Given the description of an element on the screen output the (x, y) to click on. 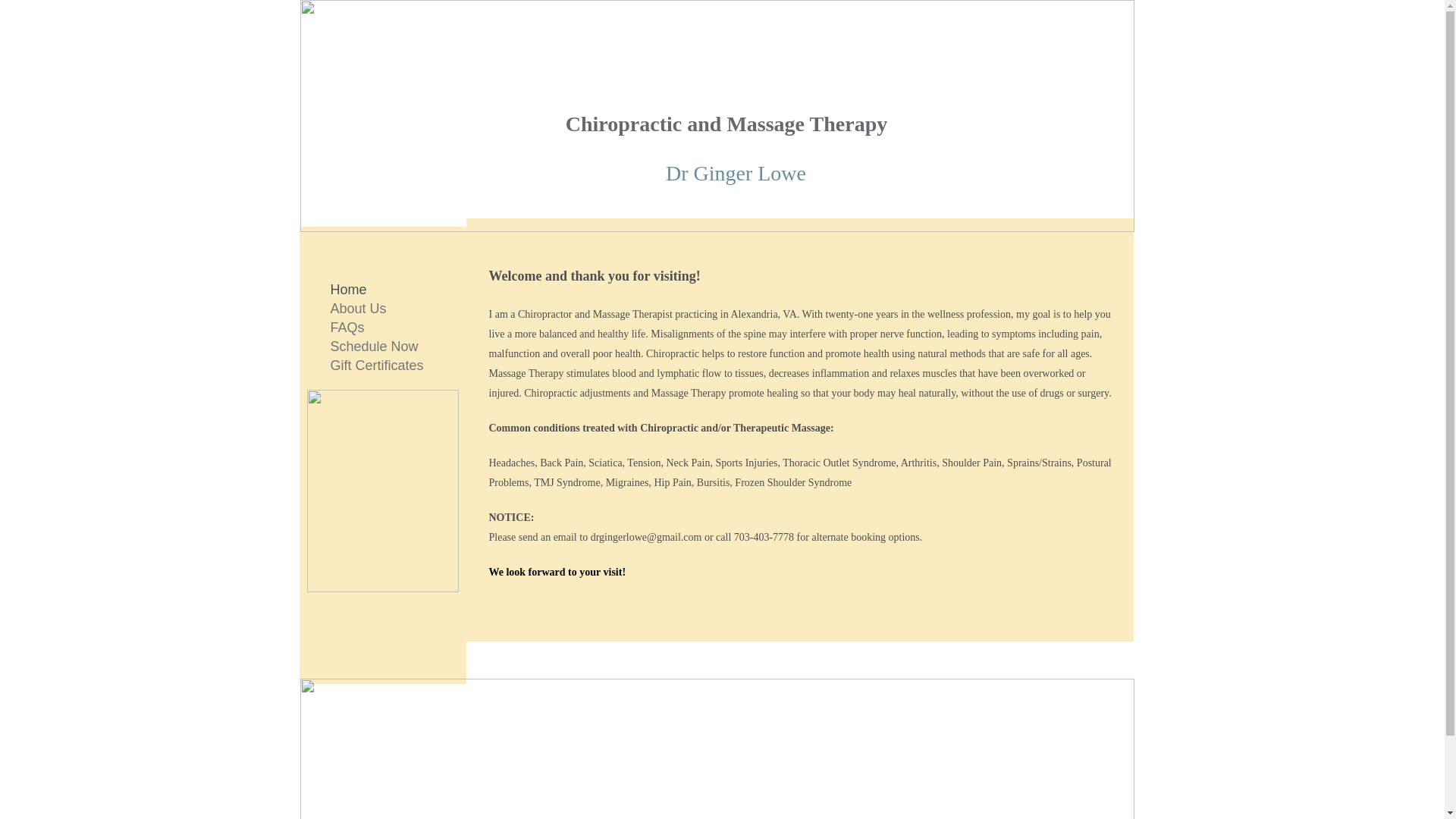
About Us (358, 308)
Gift Certificates (376, 365)
FAQs (347, 327)
Home (348, 289)
Schedule Now (374, 346)
